Given the description of an element on the screen output the (x, y) to click on. 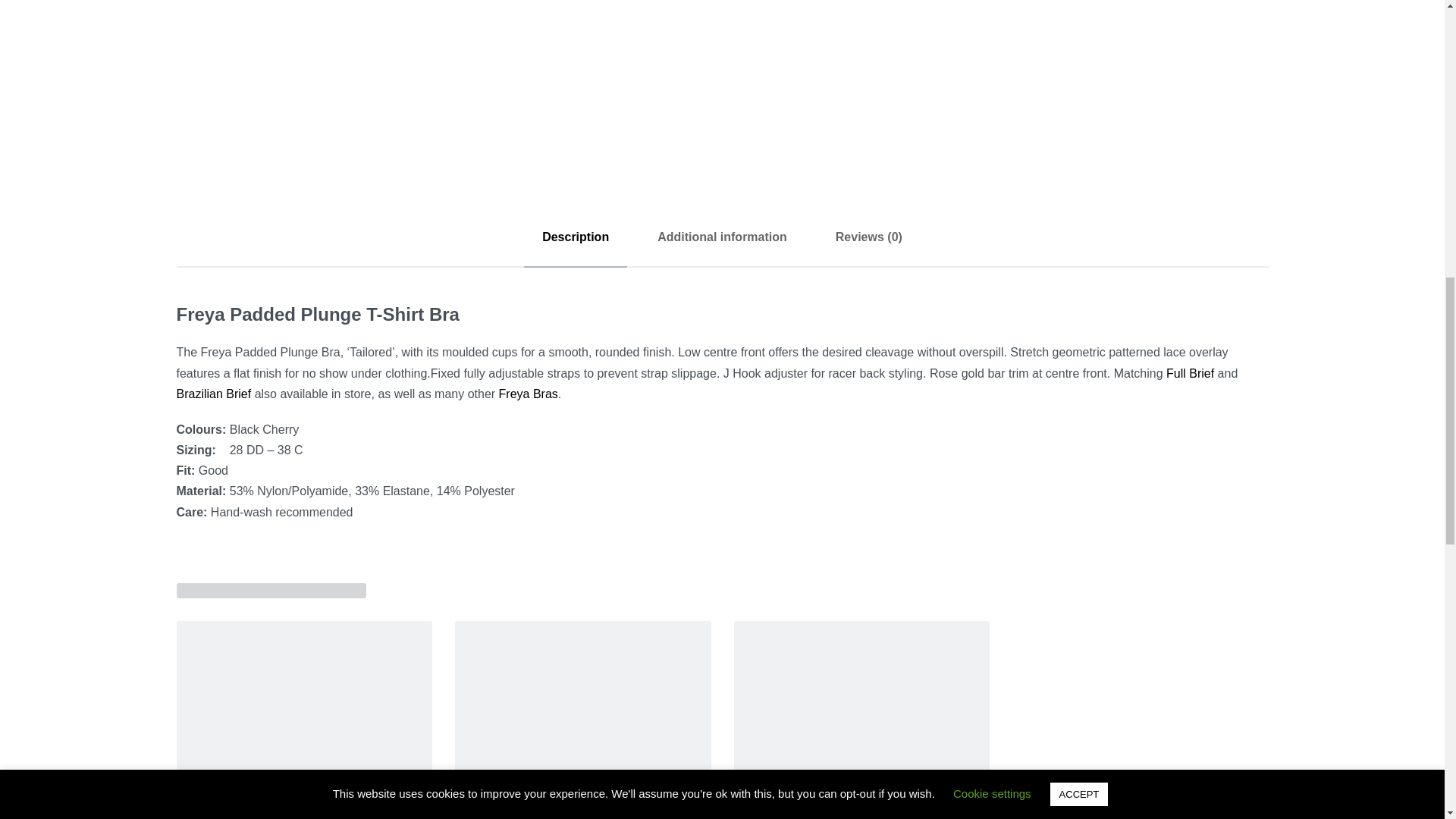
Freya Bras (528, 393)
